Given the description of an element on the screen output the (x, y) to click on. 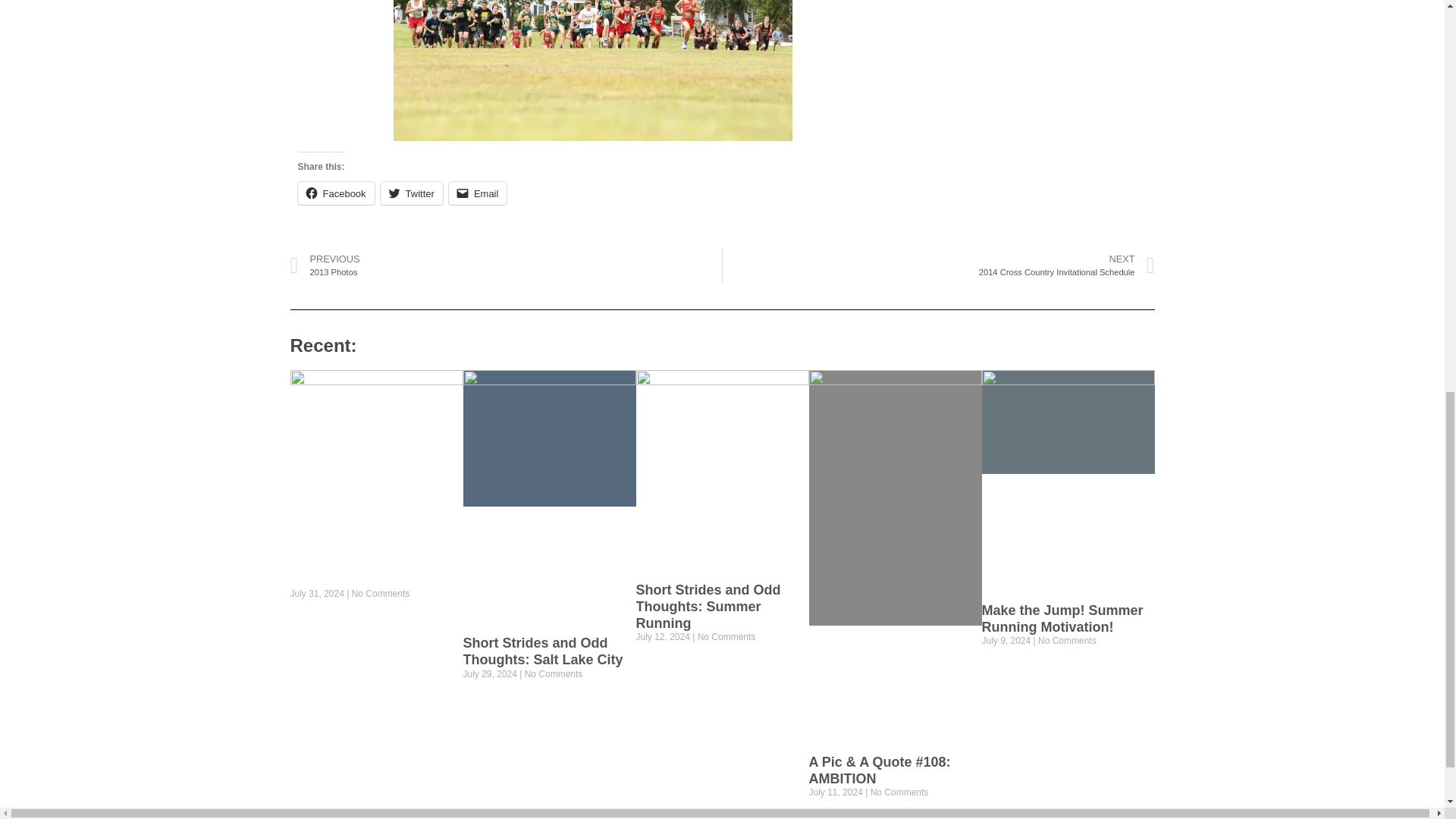
Click to email a link to a friend (477, 192)
Click to share on Twitter (411, 192)
Click to share on Facebook (335, 192)
